Given the description of an element on the screen output the (x, y) to click on. 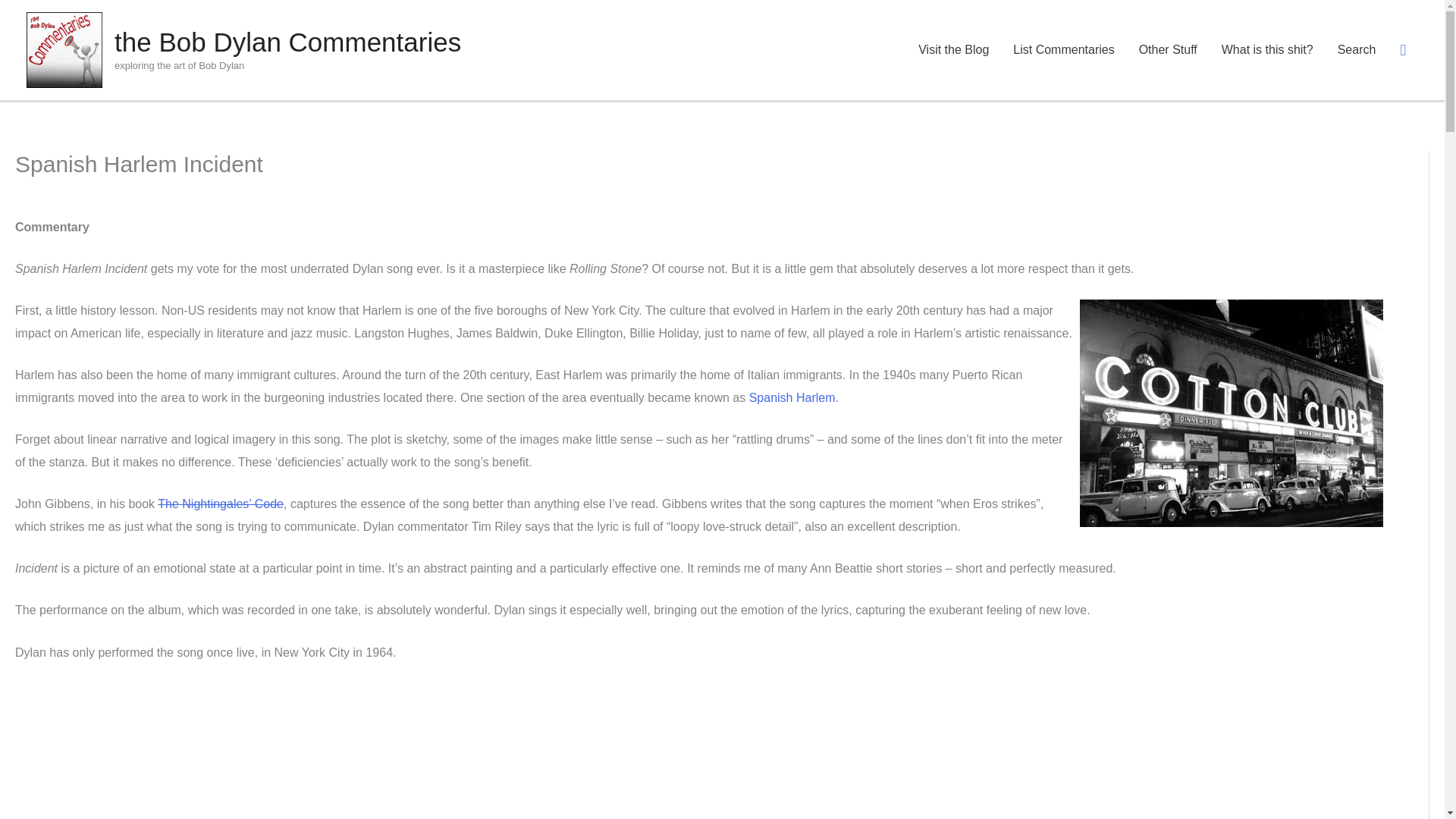
The Nightingale's Code (220, 474)
List Commentaries (1063, 35)
Visit the Blog (953, 35)
Spanish Harlem (792, 367)
the Bob Dylan Commentaries (382, 27)
What is this shit? (1266, 35)
Spanish Harlem (792, 367)
Search (48, 28)
Other Stuff (1167, 35)
